Given the description of an element on the screen output the (x, y) to click on. 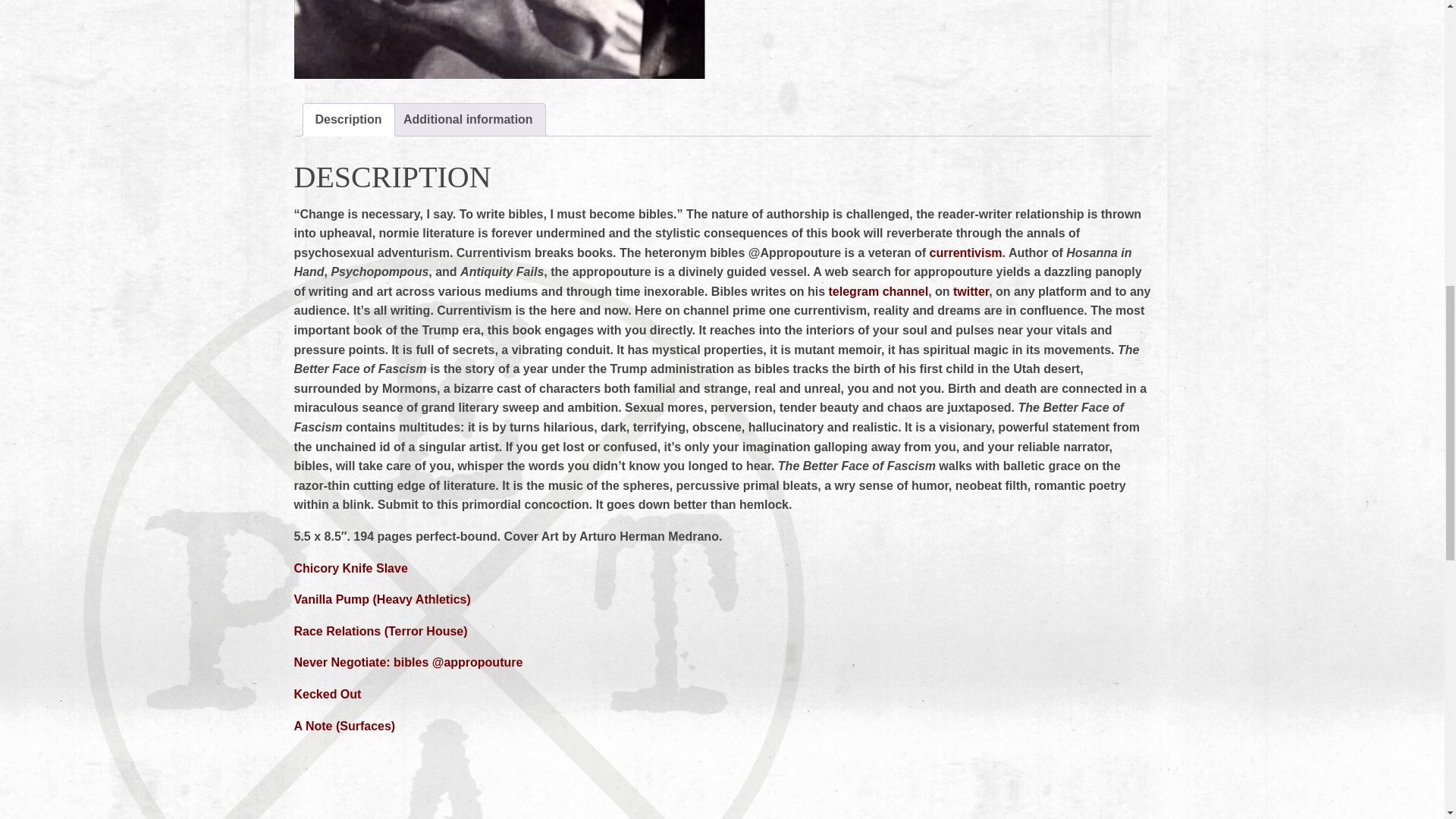
image1-4 (499, 39)
currentivism (966, 252)
telegram channel (878, 291)
Kecked Out (327, 694)
twitter (970, 291)
Additional information (467, 119)
Description (348, 119)
Chicory Knife Slave (350, 567)
